Given the description of an element on the screen output the (x, y) to click on. 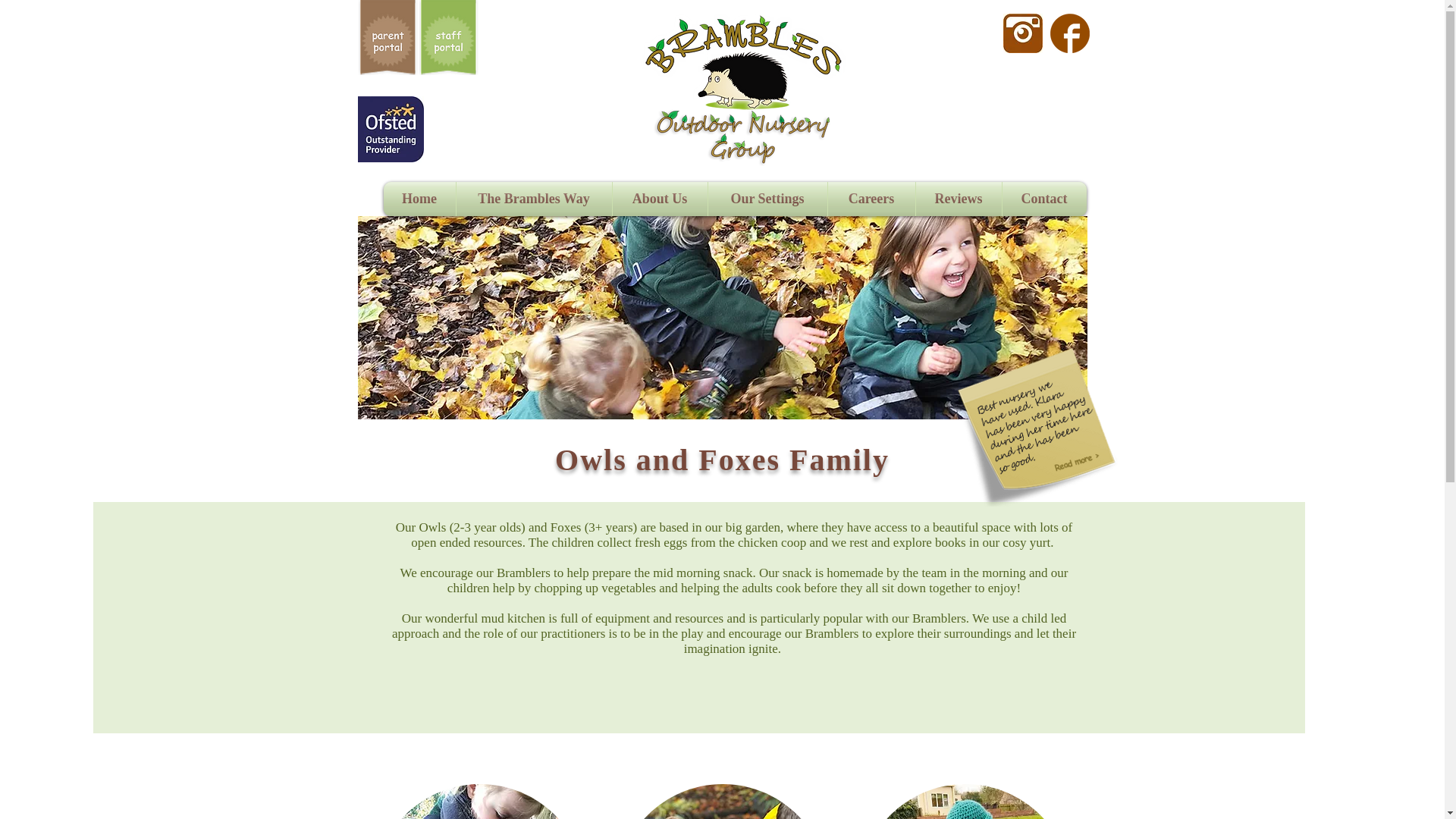
Home (419, 198)
Contact (1044, 198)
Reviews (958, 198)
The Brambles Way (534, 198)
Careers (871, 198)
